Given the description of an element on the screen output the (x, y) to click on. 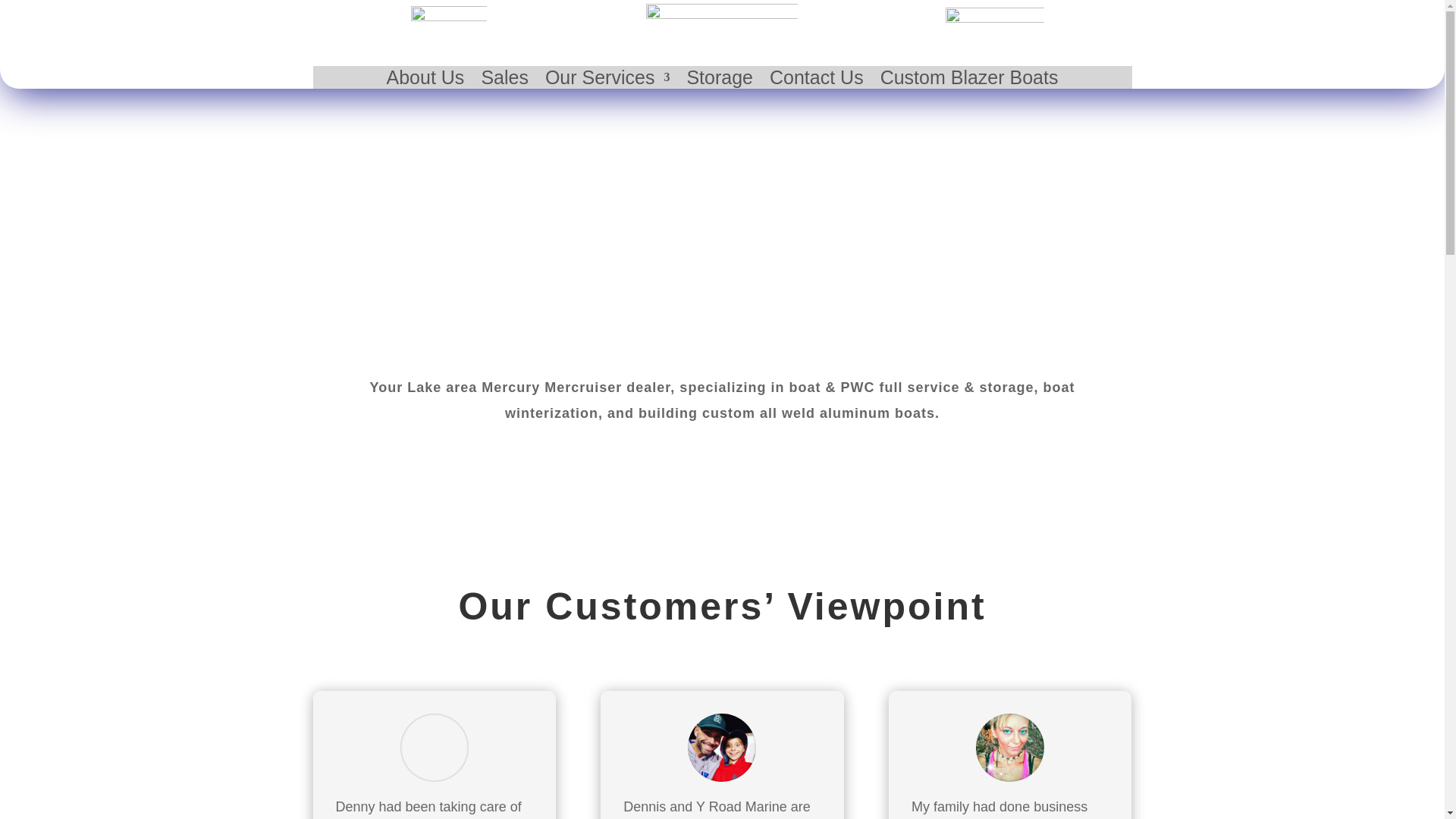
Custom Blazer Boats (969, 80)
Our Services (606, 80)
Storage (718, 80)
About Us (425, 80)
mercruiser-logo-1-1 (993, 18)
Contact Us (816, 80)
Sales (504, 80)
Blazer boats with Y Road Marine (448, 16)
